Given the description of an element on the screen output the (x, y) to click on. 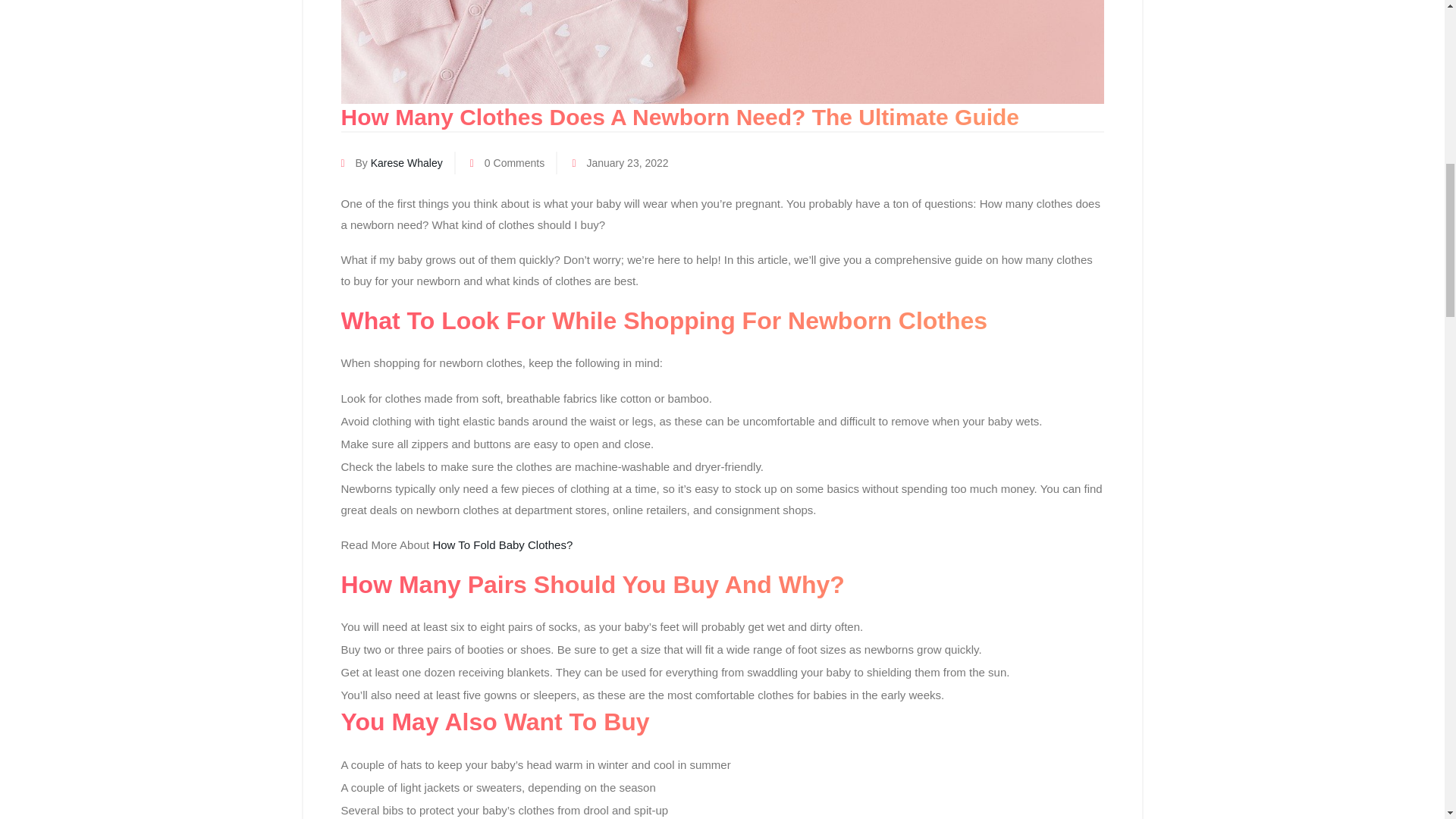
Karese Whaley (406, 162)
How To Fold Baby Clothes? (502, 544)
Posts by Karese Whaley (406, 162)
